Given the description of an element on the screen output the (x, y) to click on. 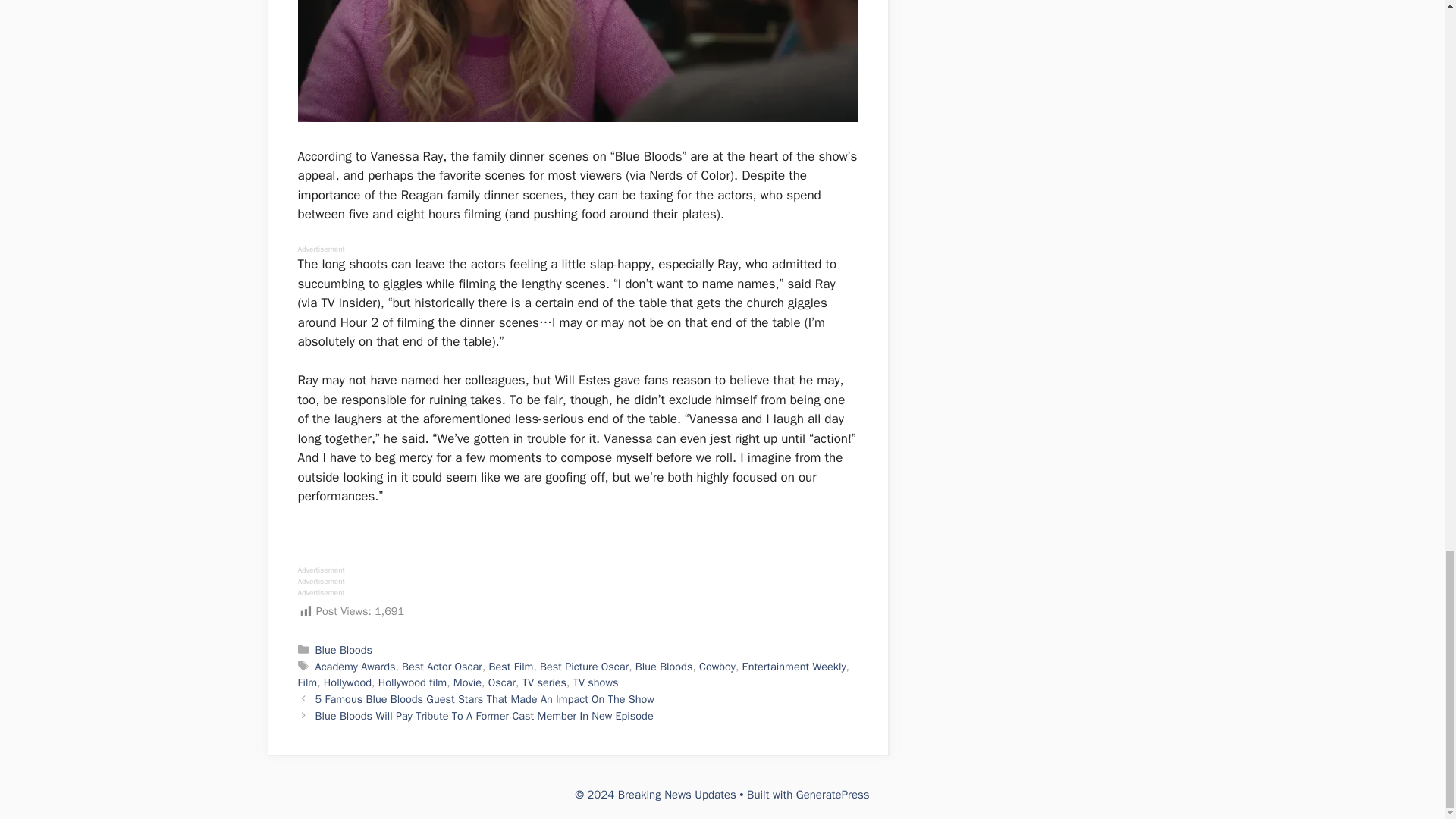
Hollywood film (412, 682)
Academy Awards (355, 666)
Blue Bloods (343, 649)
Movie (466, 682)
TV series (544, 682)
Cowboy (716, 666)
Oscar (501, 682)
GeneratePress (832, 794)
